Given the description of an element on the screen output the (x, y) to click on. 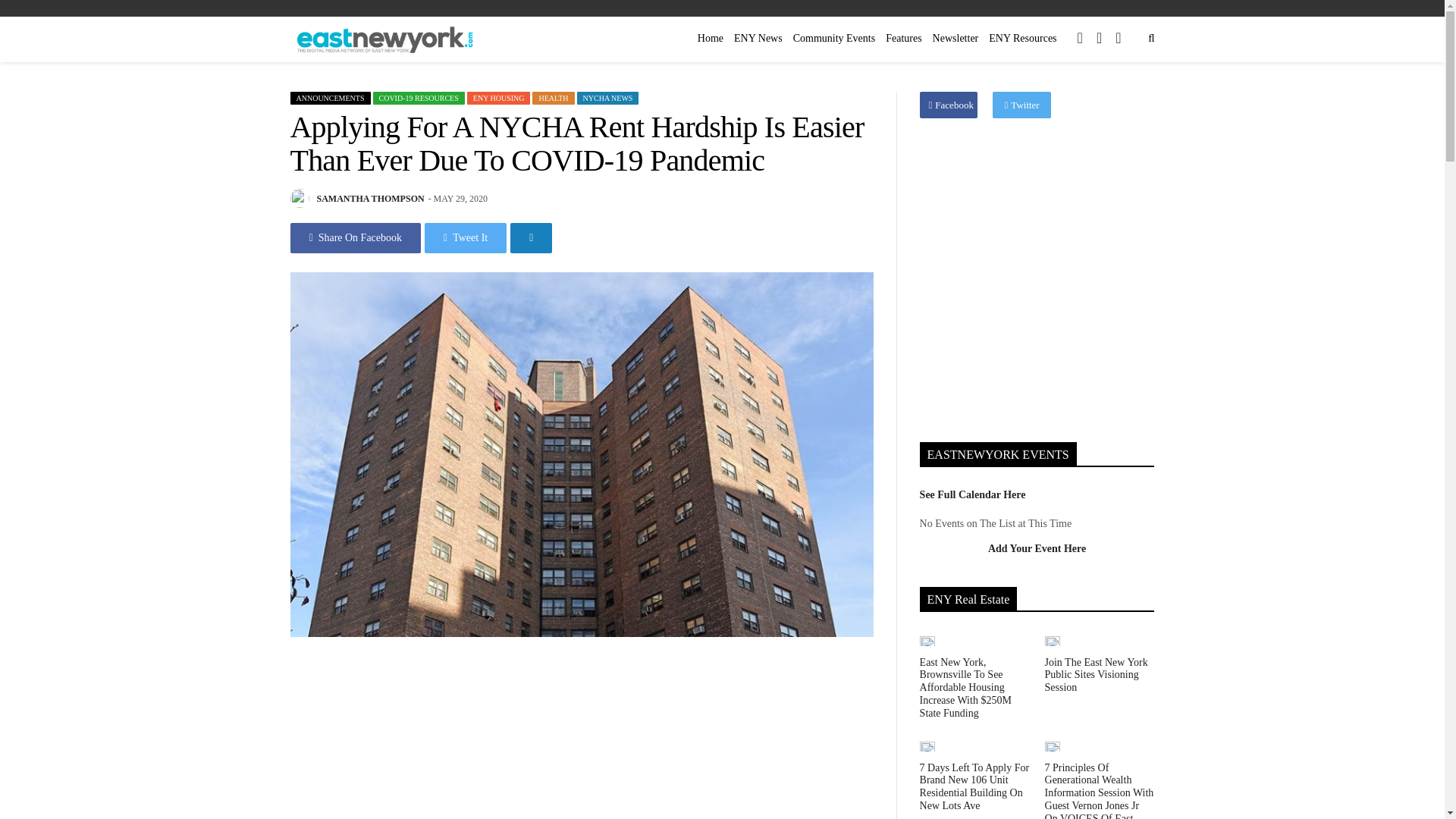
Features (903, 38)
Posts by Samantha Thompson (371, 198)
Newsletter (955, 38)
Home (711, 38)
ENY Resources (1022, 38)
ENY News (758, 38)
Community Events (833, 38)
